Given the description of an element on the screen output the (x, y) to click on. 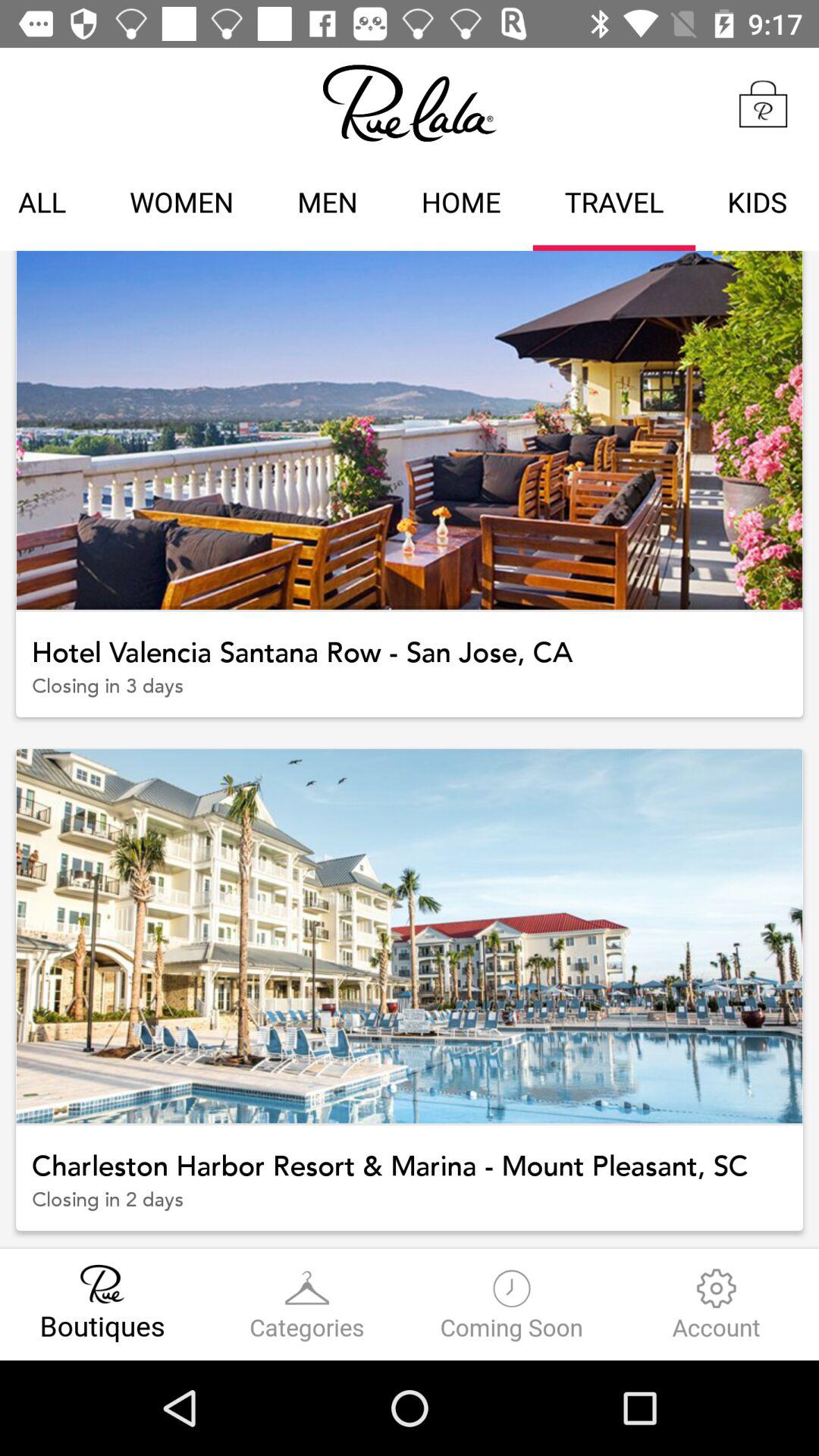
flip to the men item (327, 204)
